Given the description of an element on the screen output the (x, y) to click on. 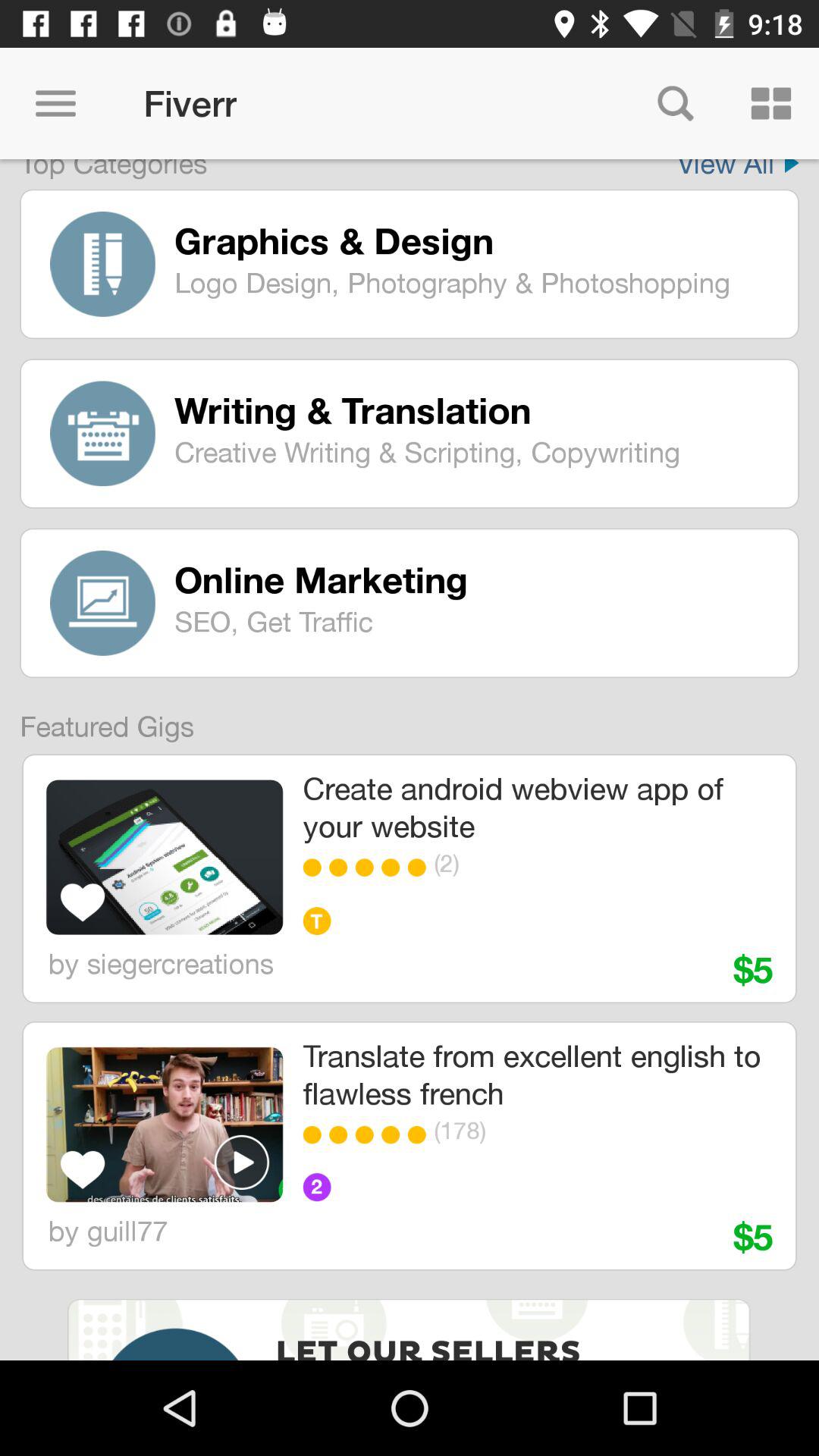
select the button which is after search button on page (771, 103)
click on the logo which is left hand side of graphics  design (102, 264)
